Given the description of an element on the screen output the (x, y) to click on. 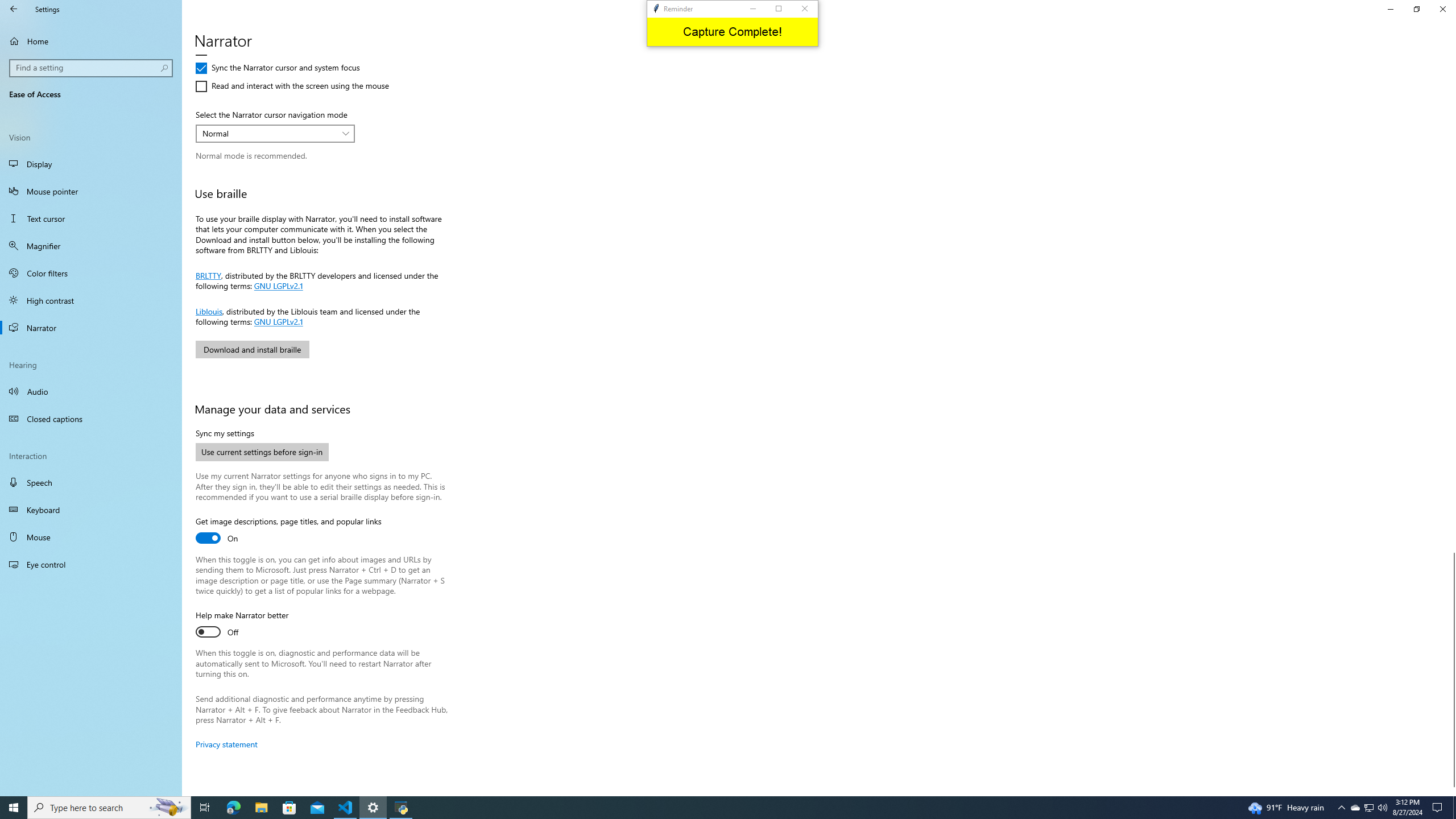
Text cursor (91, 217)
Back (13, 9)
Audio (91, 390)
Liblouis (208, 310)
Minimize Settings (1390, 9)
Mouse pointer (91, 190)
High contrast (91, 299)
File Explorer (261, 807)
Close Settings (1442, 9)
Narrator (91, 327)
BRLTTY (1368, 807)
Closed captions (208, 274)
Normal (91, 418)
Vertical (269, 132)
